Given the description of an element on the screen output the (x, y) to click on. 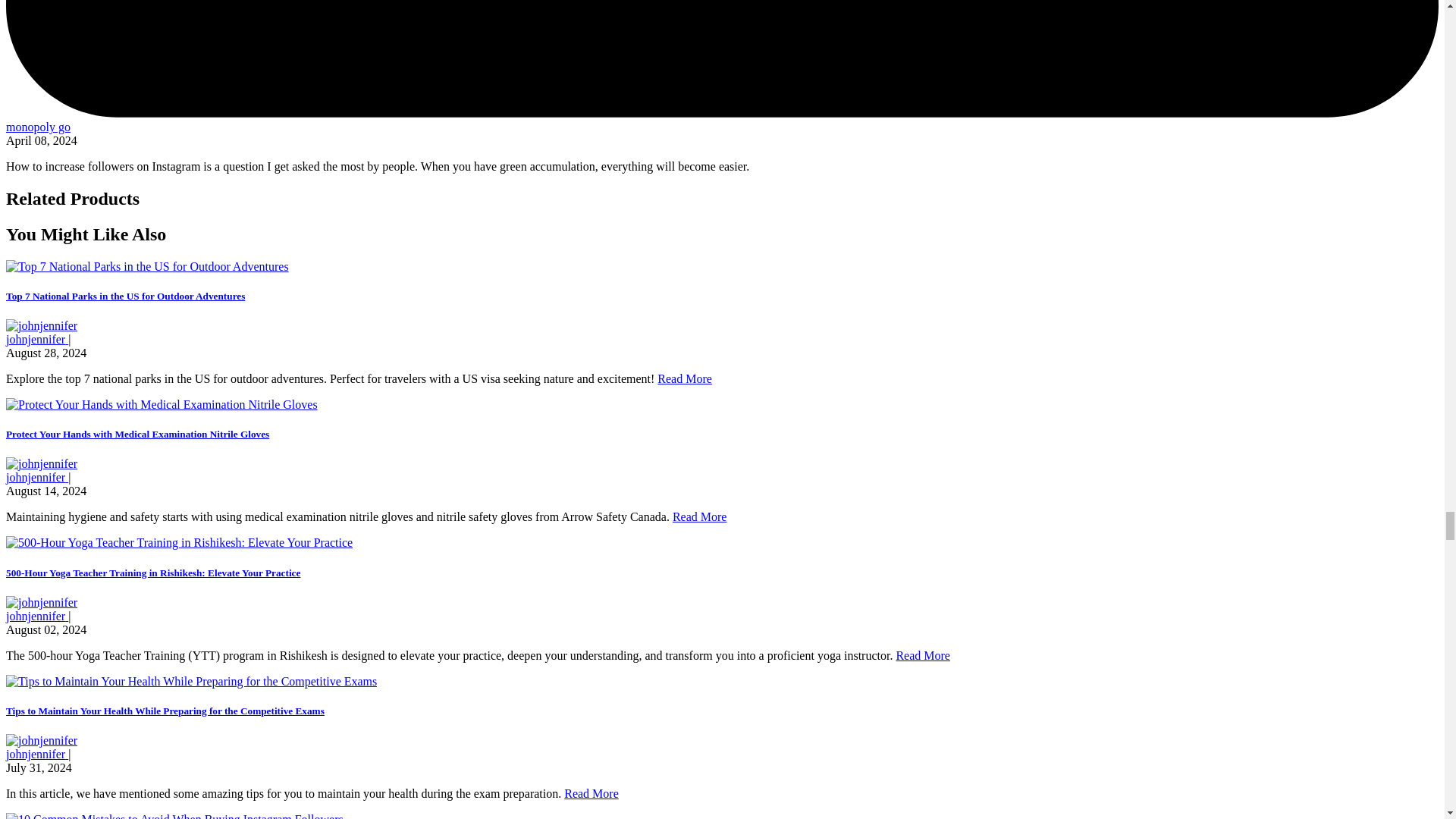
Read More (684, 378)
Top 7 National Parks in the US for Outdoor Adventures (124, 296)
Protect Your Hands with Medical Examination Nitrile Gloves (137, 433)
Read More (699, 516)
Read More (591, 793)
Read More (922, 655)
